Given the description of an element on the screen output the (x, y) to click on. 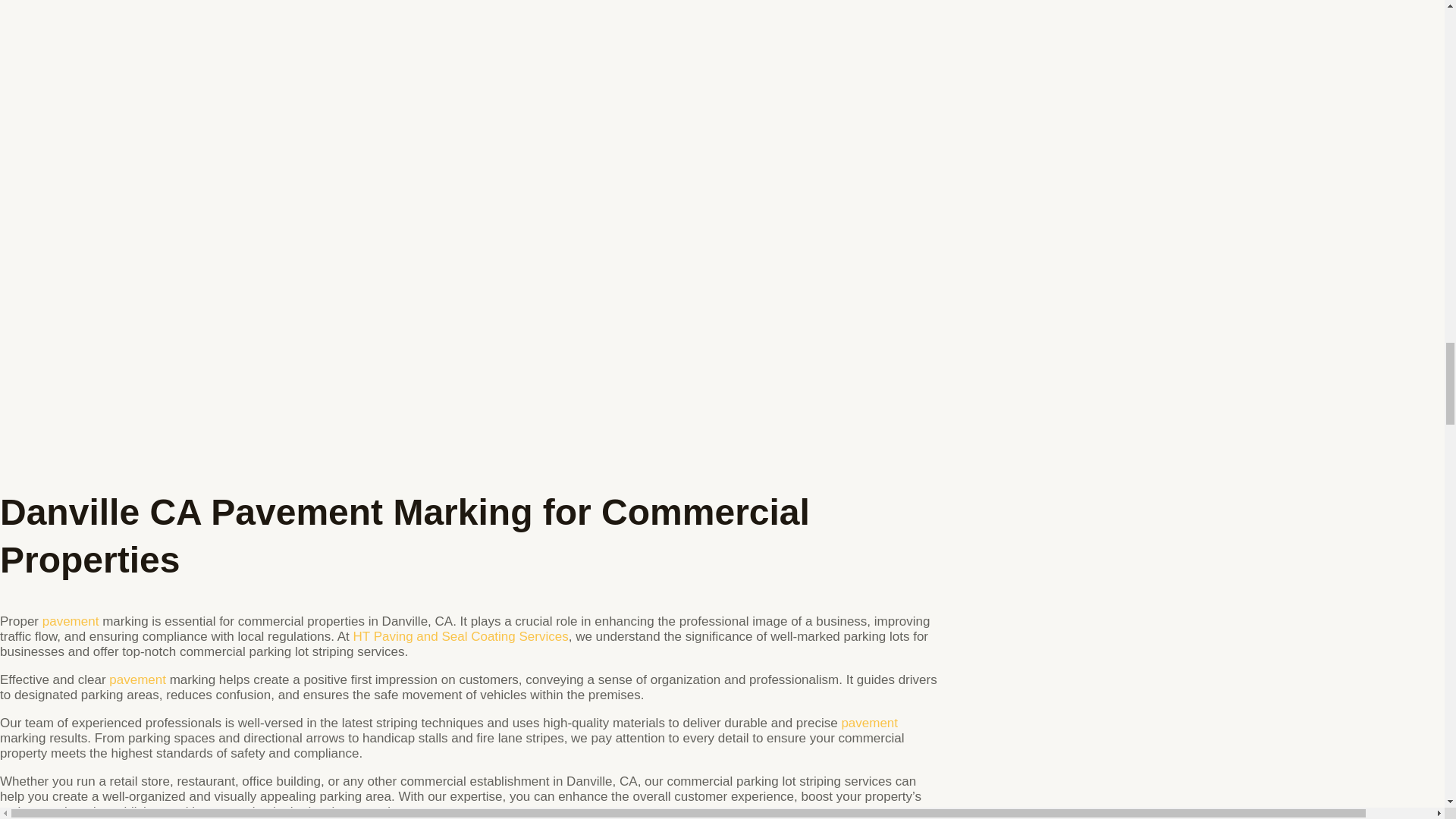
View More! (70, 621)
